Given the description of an element on the screen output the (x, y) to click on. 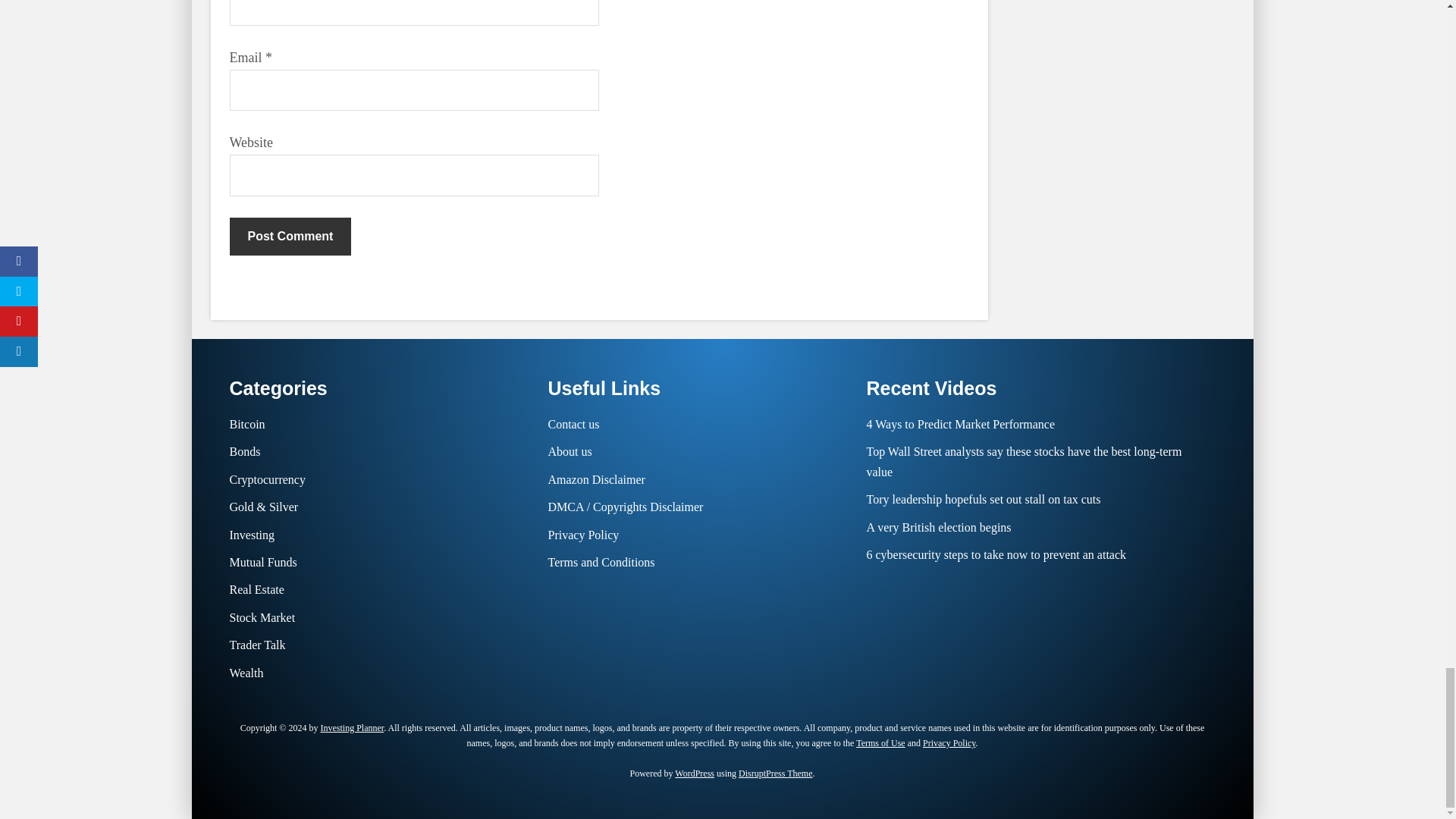
Post Comment (289, 236)
